Given the description of an element on the screen output the (x, y) to click on. 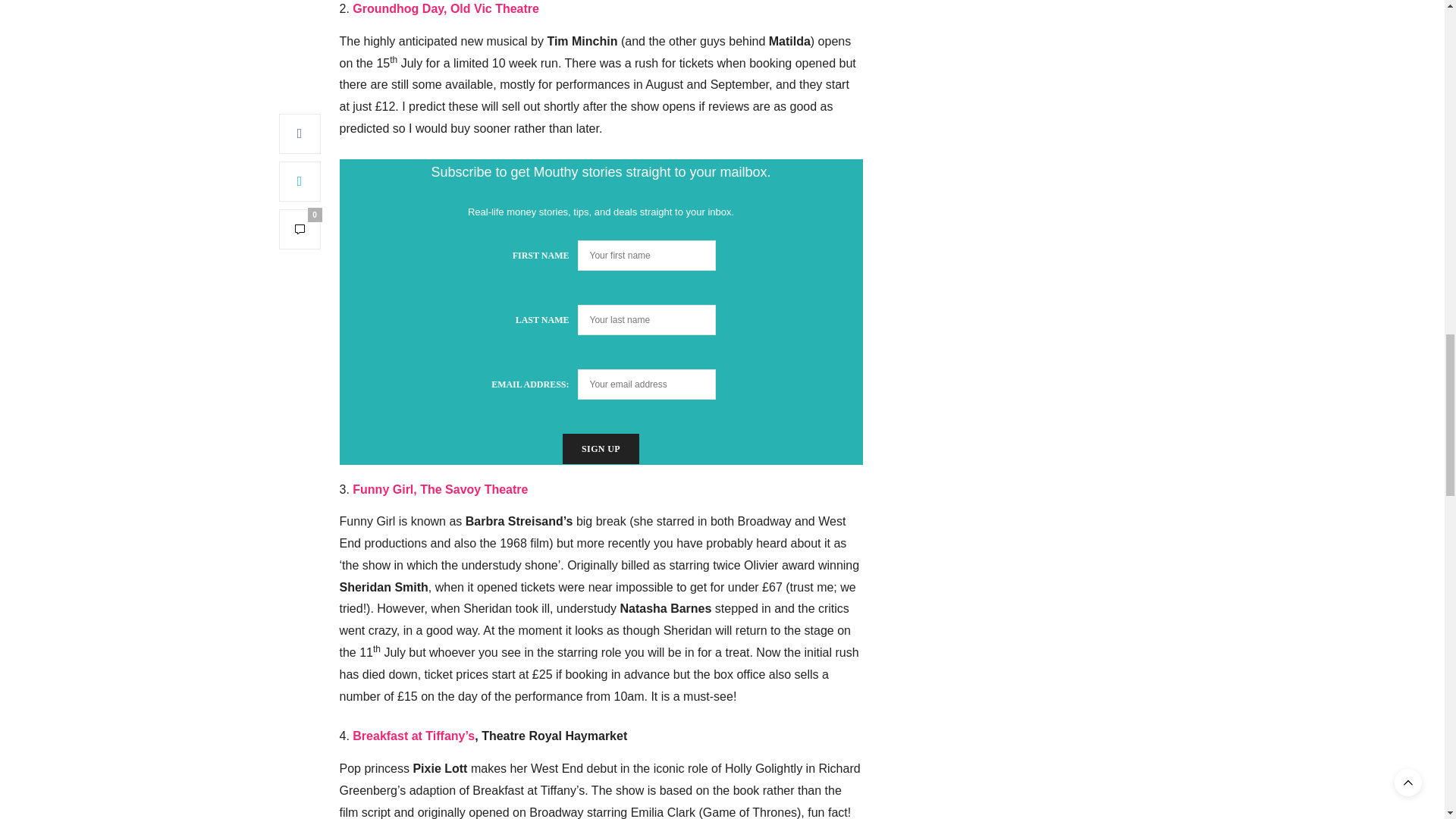
Sign up (600, 449)
